Given the description of an element on the screen output the (x, y) to click on. 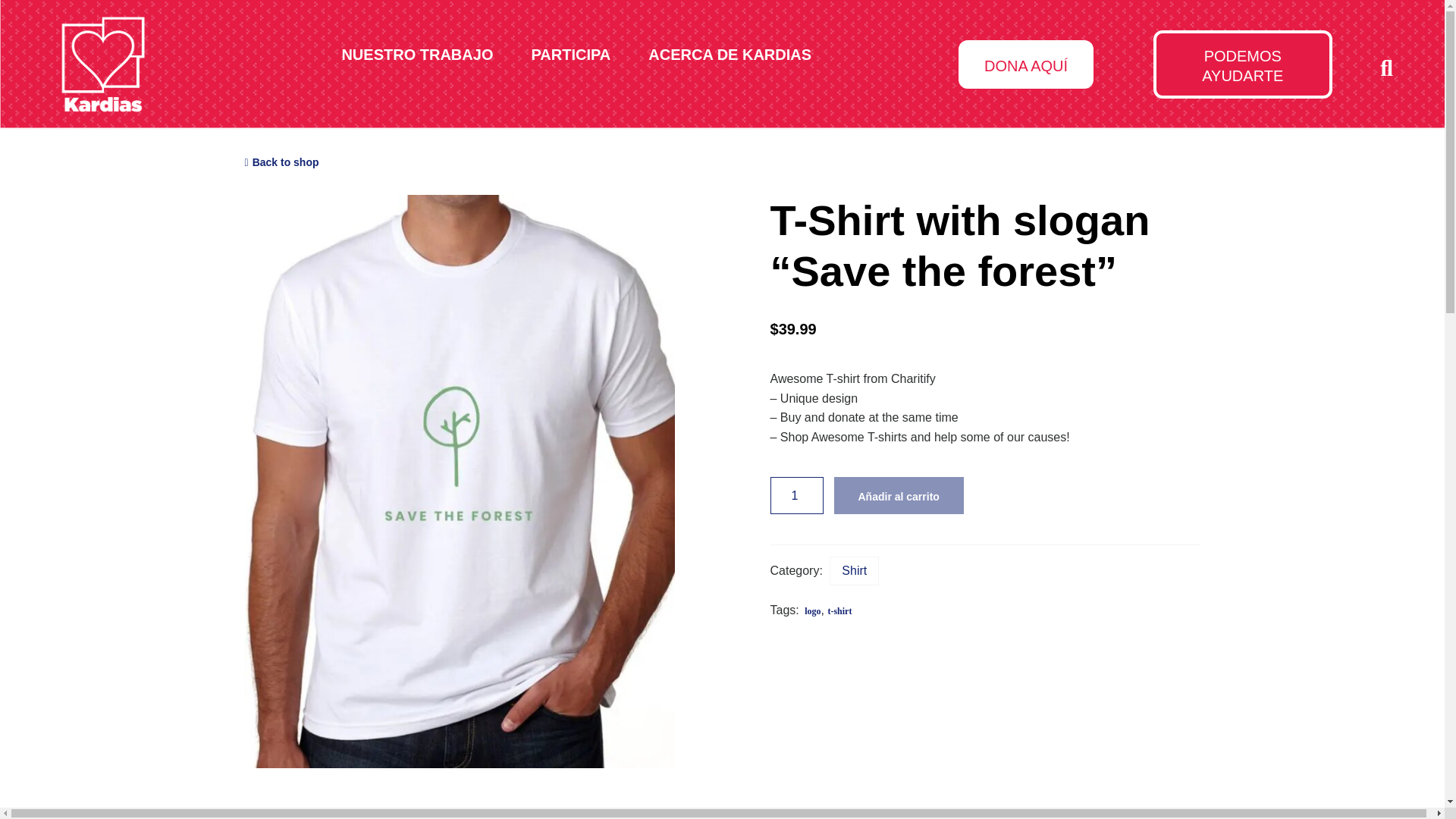
ACERCA DE KARDIAS (729, 54)
PODEMOS AYUDARTE (1242, 64)
1 (797, 495)
PARTICIPA (569, 54)
NUESTRO TRABAJO (416, 54)
